Given the description of an element on the screen output the (x, y) to click on. 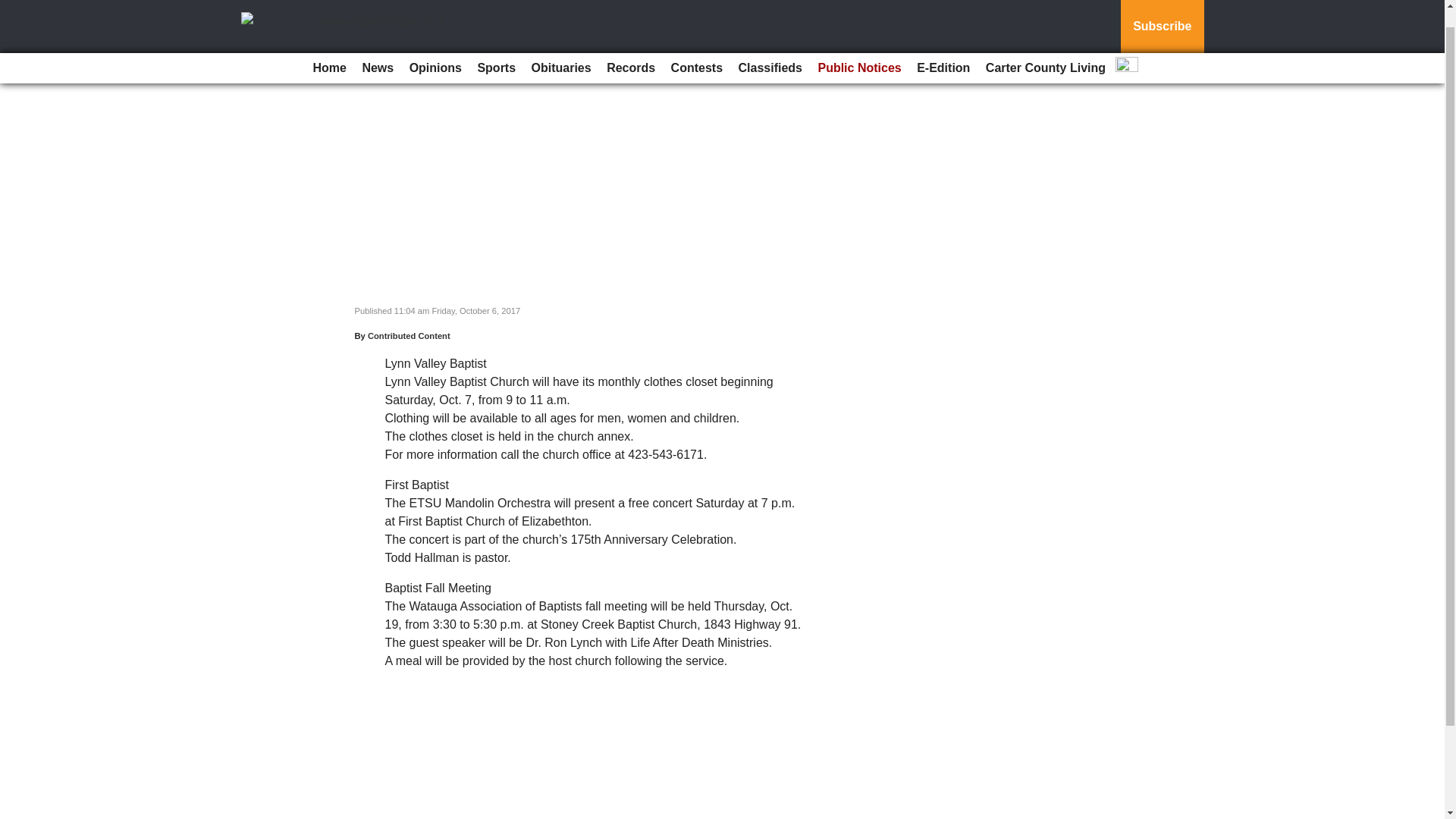
News (376, 49)
Obituaries (560, 49)
Subscribe (1162, 17)
Home (328, 49)
Opinions (435, 49)
Public Notices (858, 49)
Carter County Living (1045, 49)
Contests (697, 49)
E-Edition (943, 49)
Contributed Content (408, 335)
Classifieds (770, 49)
Records (630, 49)
Sports (495, 49)
